Given the description of an element on the screen output the (x, y) to click on. 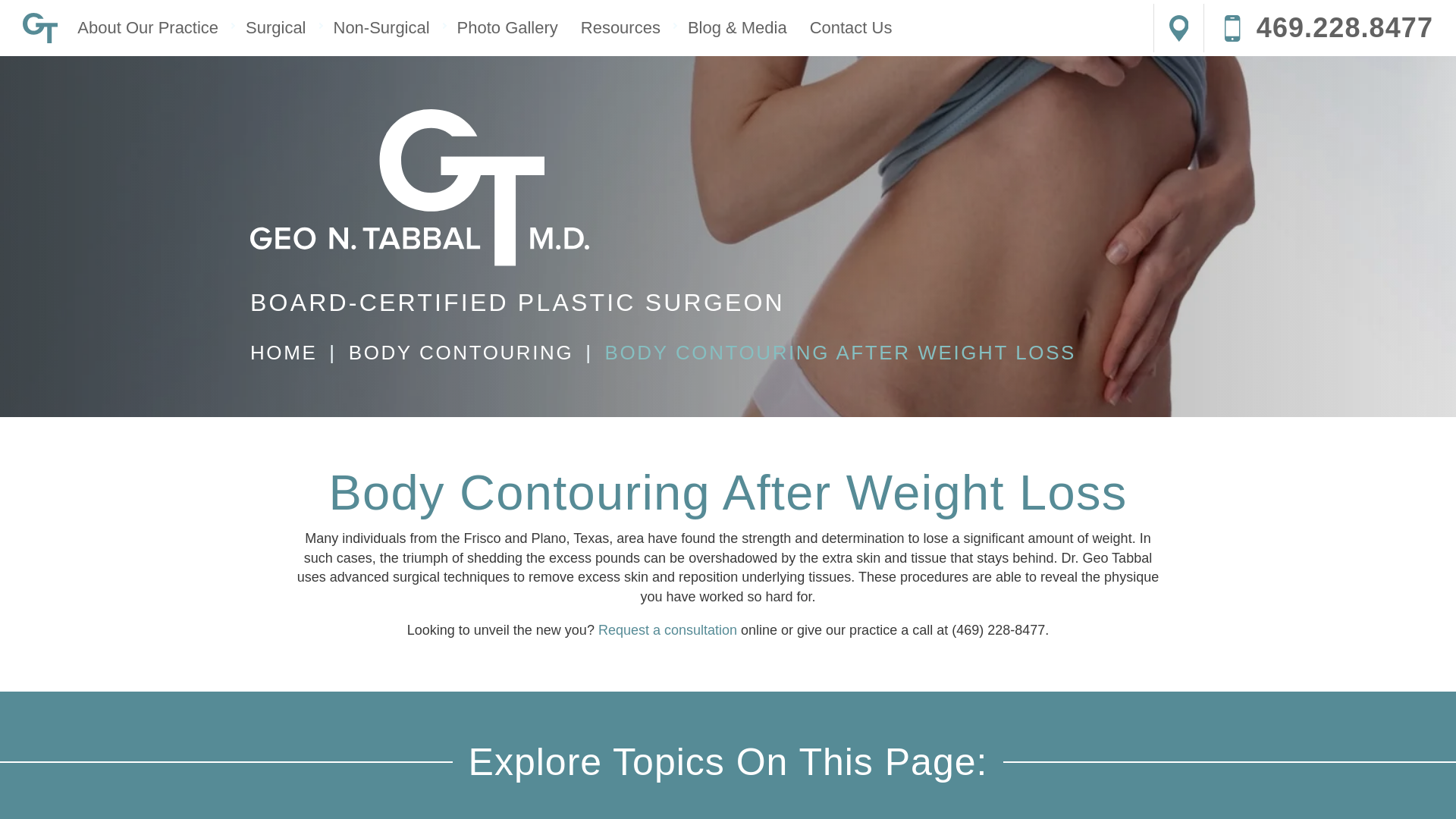
Non-Surgical (381, 27)
About Our Practice (147, 27)
Surgical (275, 27)
